Given the description of an element on the screen output the (x, y) to click on. 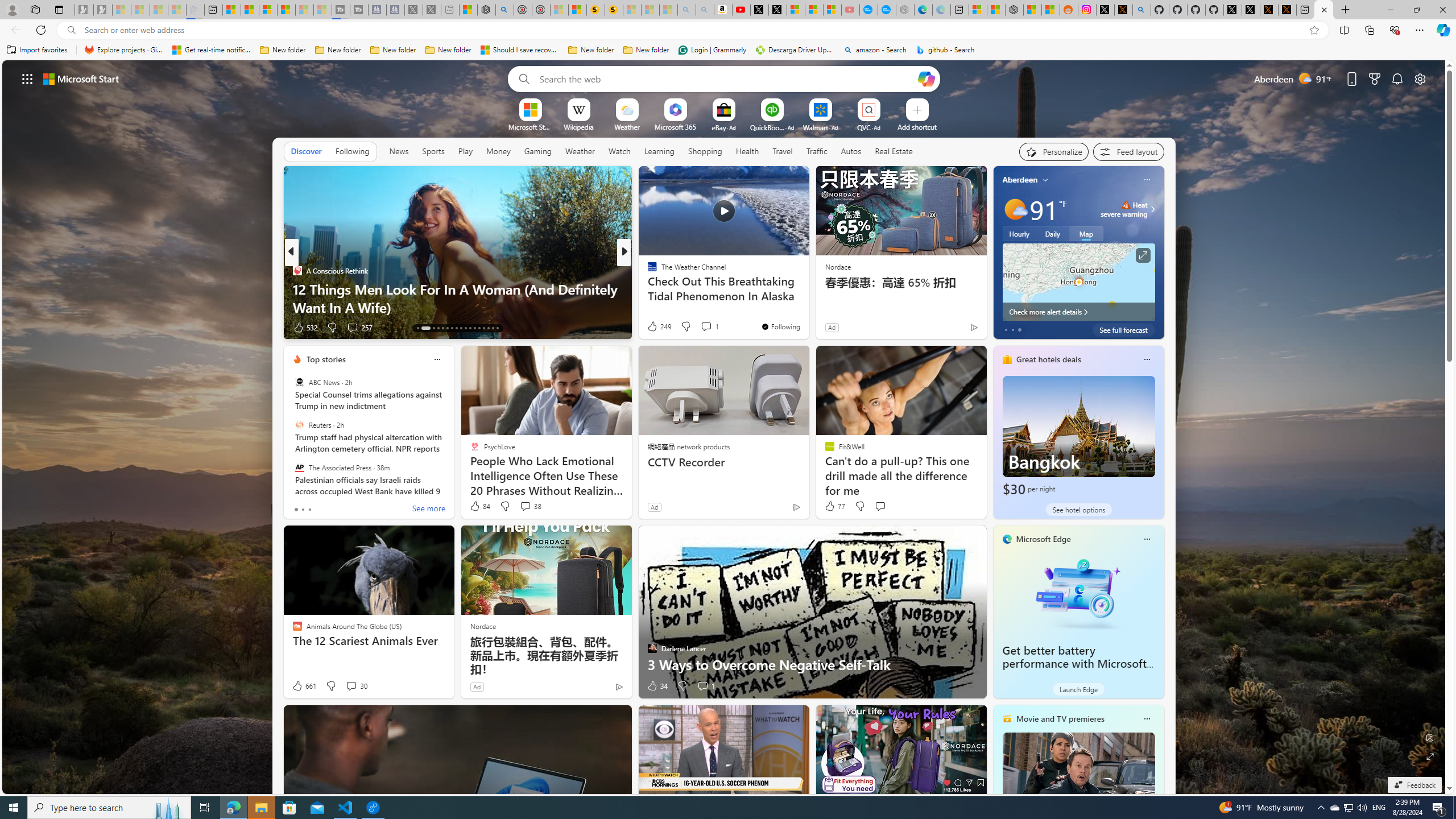
Learning (659, 151)
Opinion: Op-Ed and Commentary - USA TODAY (868, 9)
Personalize your feed" (1054, 151)
Aberdeen (1019, 179)
Travel (782, 151)
CCTV Recorder (723, 462)
